Given the description of an element on the screen output the (x, y) to click on. 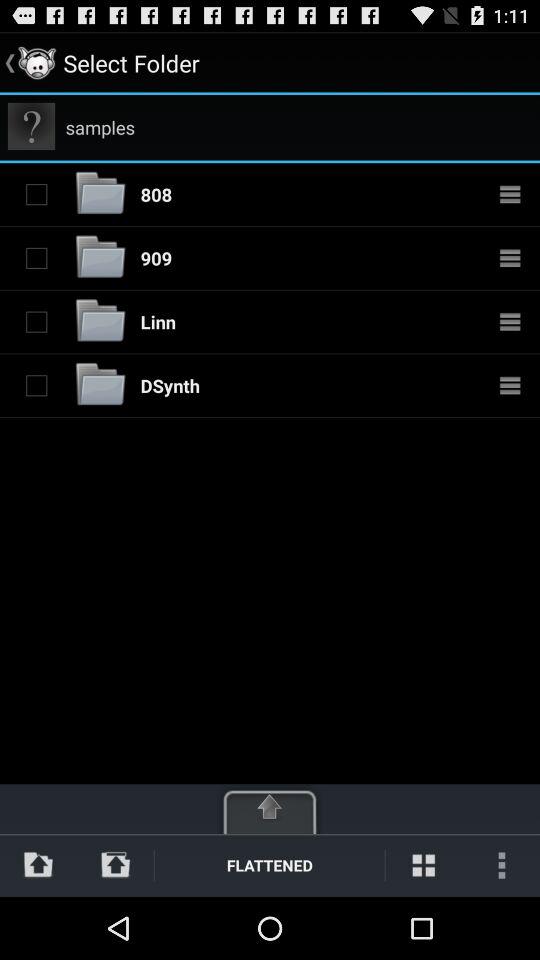
folder (100, 257)
